Given the description of an element on the screen output the (x, y) to click on. 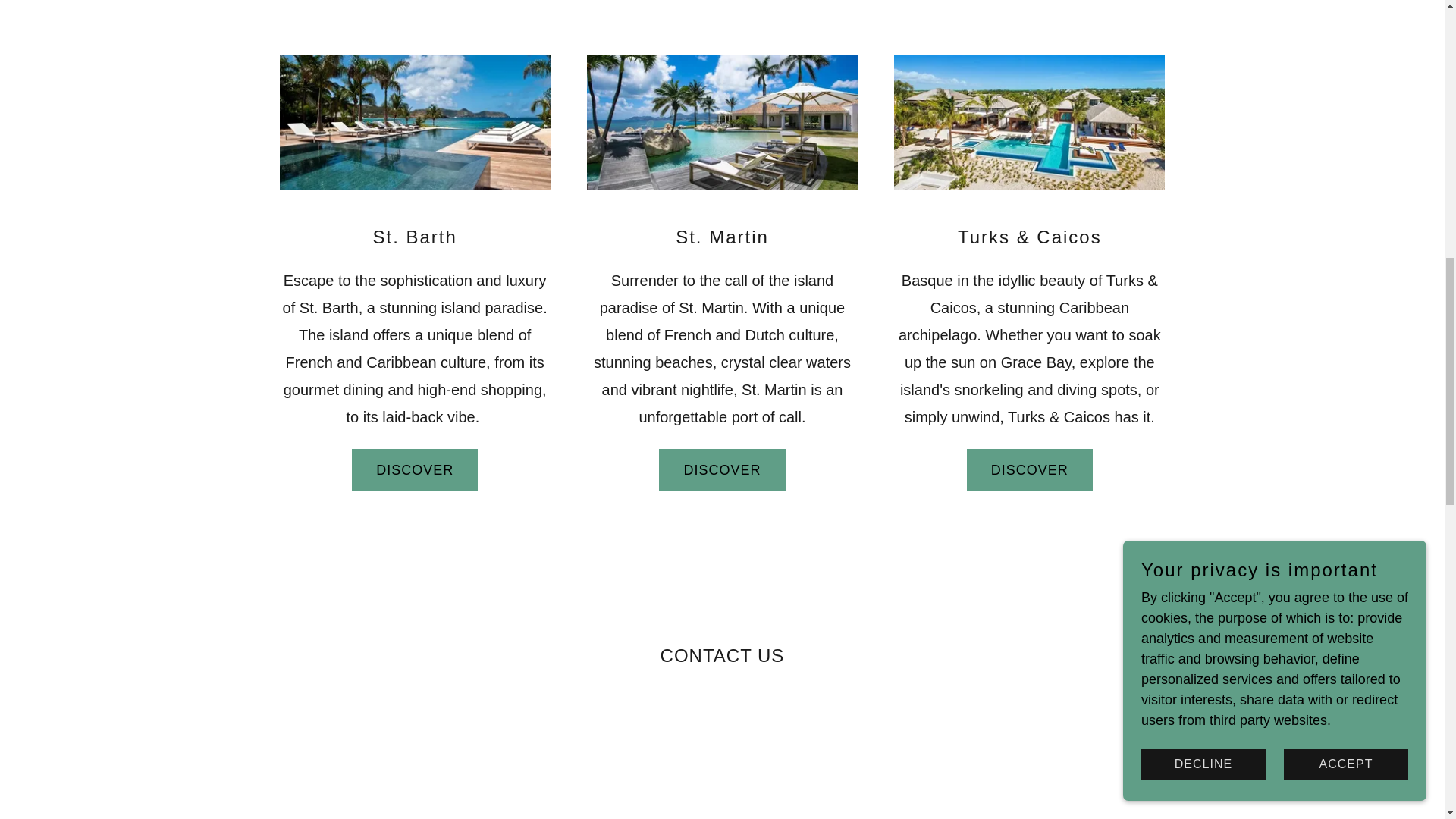
DISCOVER (721, 469)
DISCOVER (414, 469)
DISCOVER (1029, 469)
